Given the description of an element on the screen output the (x, y) to click on. 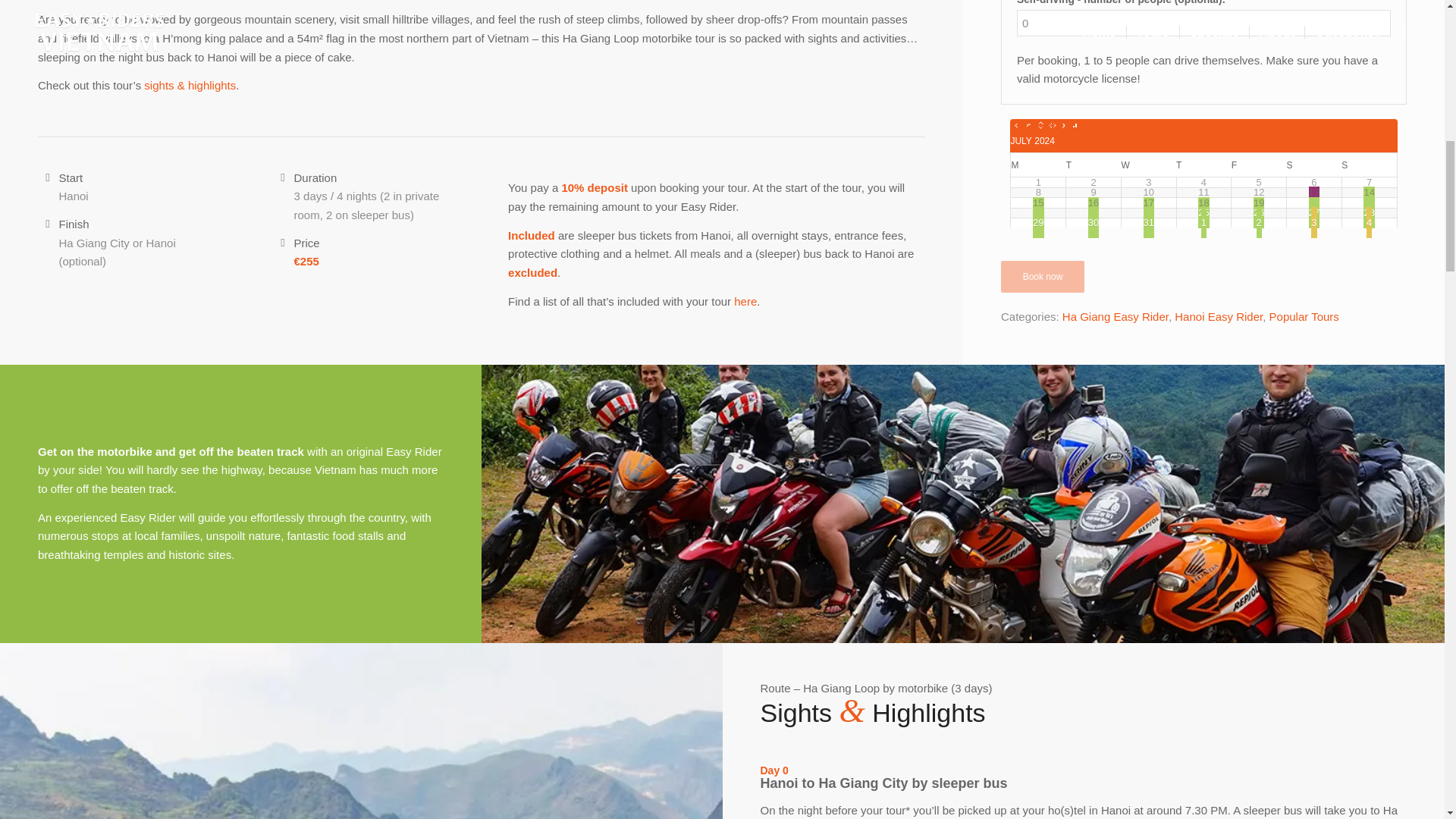
Previous (1033, 122)
This date is available (1093, 181)
This date is available (1037, 181)
This date is available (1148, 181)
Next (1069, 122)
Wednesday (1126, 164)
0 (1203, 22)
